Given the description of an element on the screen output the (x, y) to click on. 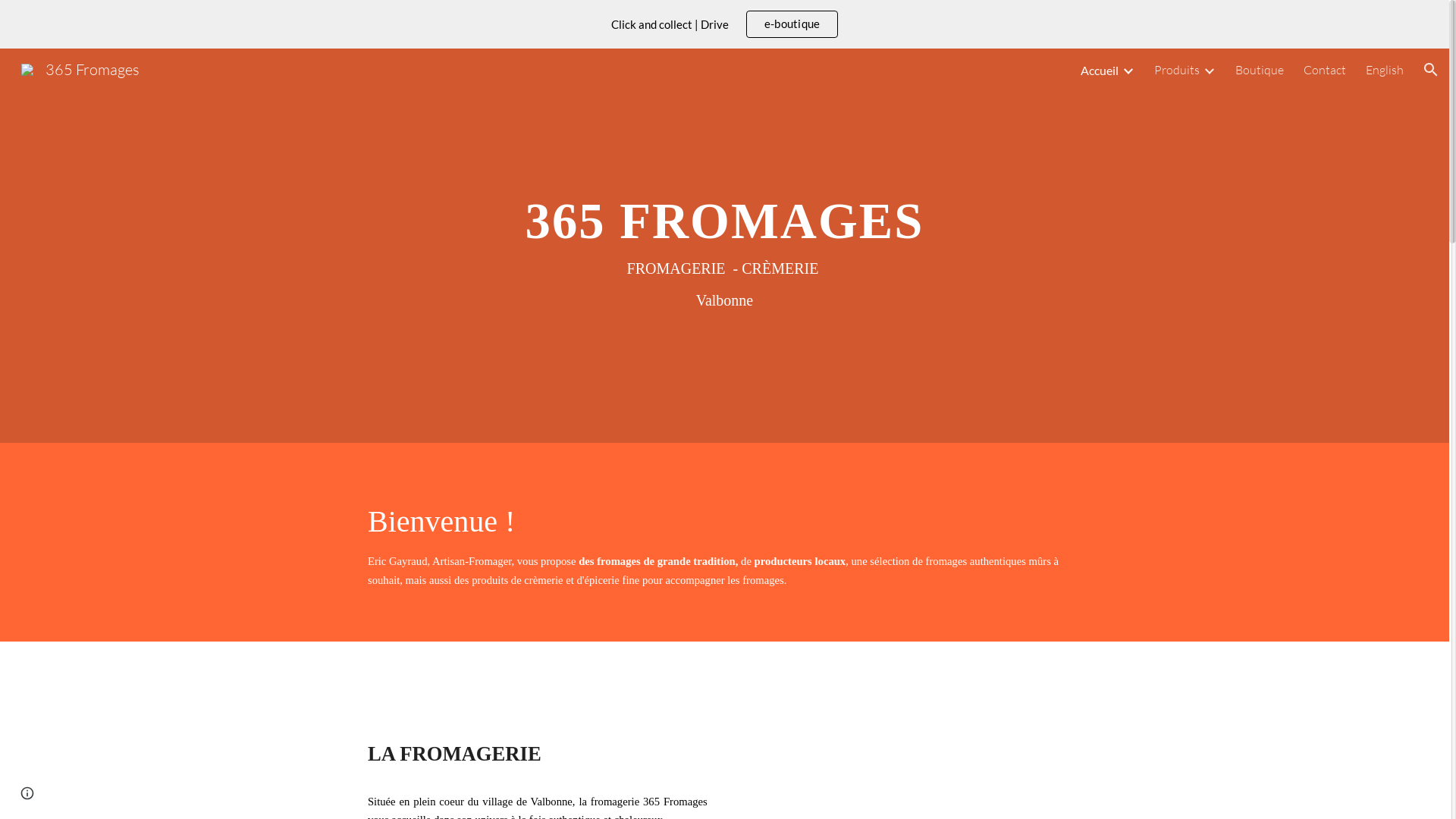
Contact Element type: text (1324, 69)
Accueil Element type: text (1099, 69)
English Element type: text (1384, 69)
365 Fromages Element type: text (80, 67)
Produits Element type: text (1176, 69)
e-boutique Element type: text (791, 24)
Expand/Collapse Element type: hover (1127, 69)
Boutique Element type: text (1259, 69)
Expand/Collapse Element type: hover (1208, 69)
